Given the description of an element on the screen output the (x, y) to click on. 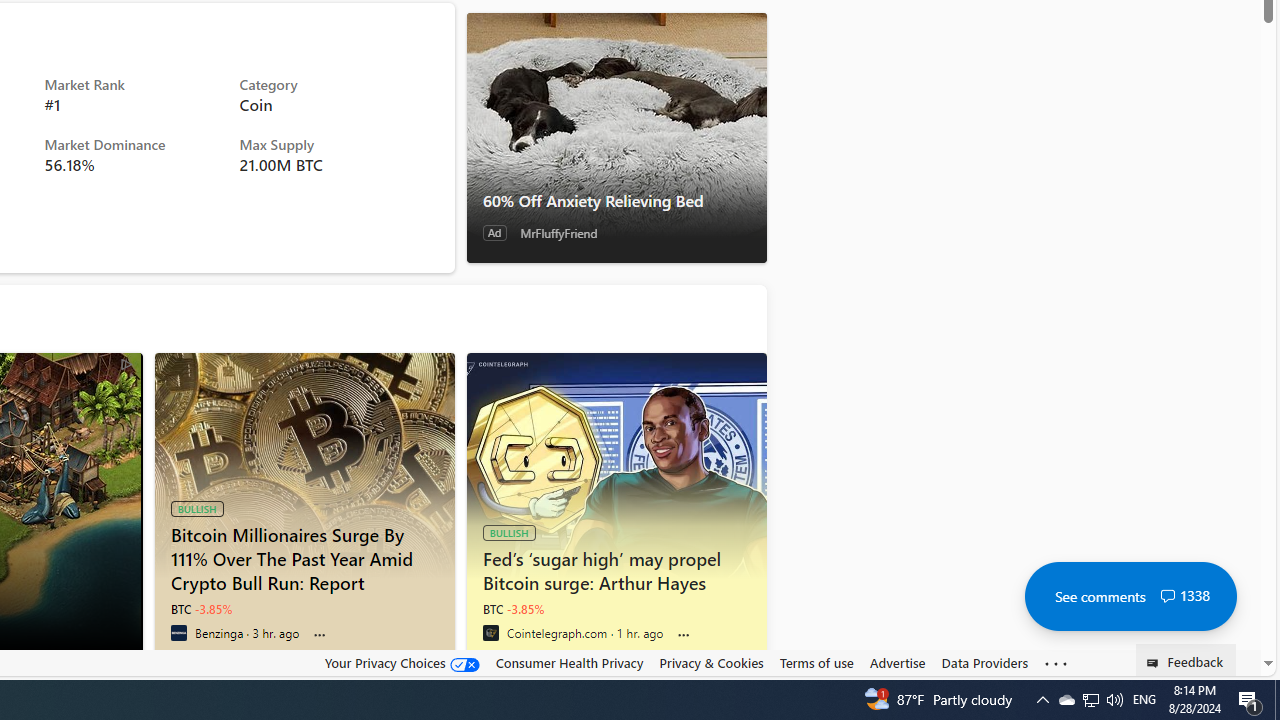
See comments 1338 (1130, 596)
Class: oneFooter_seeMore-DS-EntryPoint1-1 (1055, 663)
Privacy & Cookies (711, 663)
60% Off Anxiety Relieving Bed (616, 200)
Cointelegraph.com (490, 632)
Your Privacy Choices (401, 663)
Data Providers (983, 663)
Consumer Health Privacy (569, 663)
Class: cwt-icon-vector (1167, 596)
AdChoices (126, 362)
Your Privacy Choices (401, 662)
Advertise (897, 663)
